Given the description of an element on the screen output the (x, y) to click on. 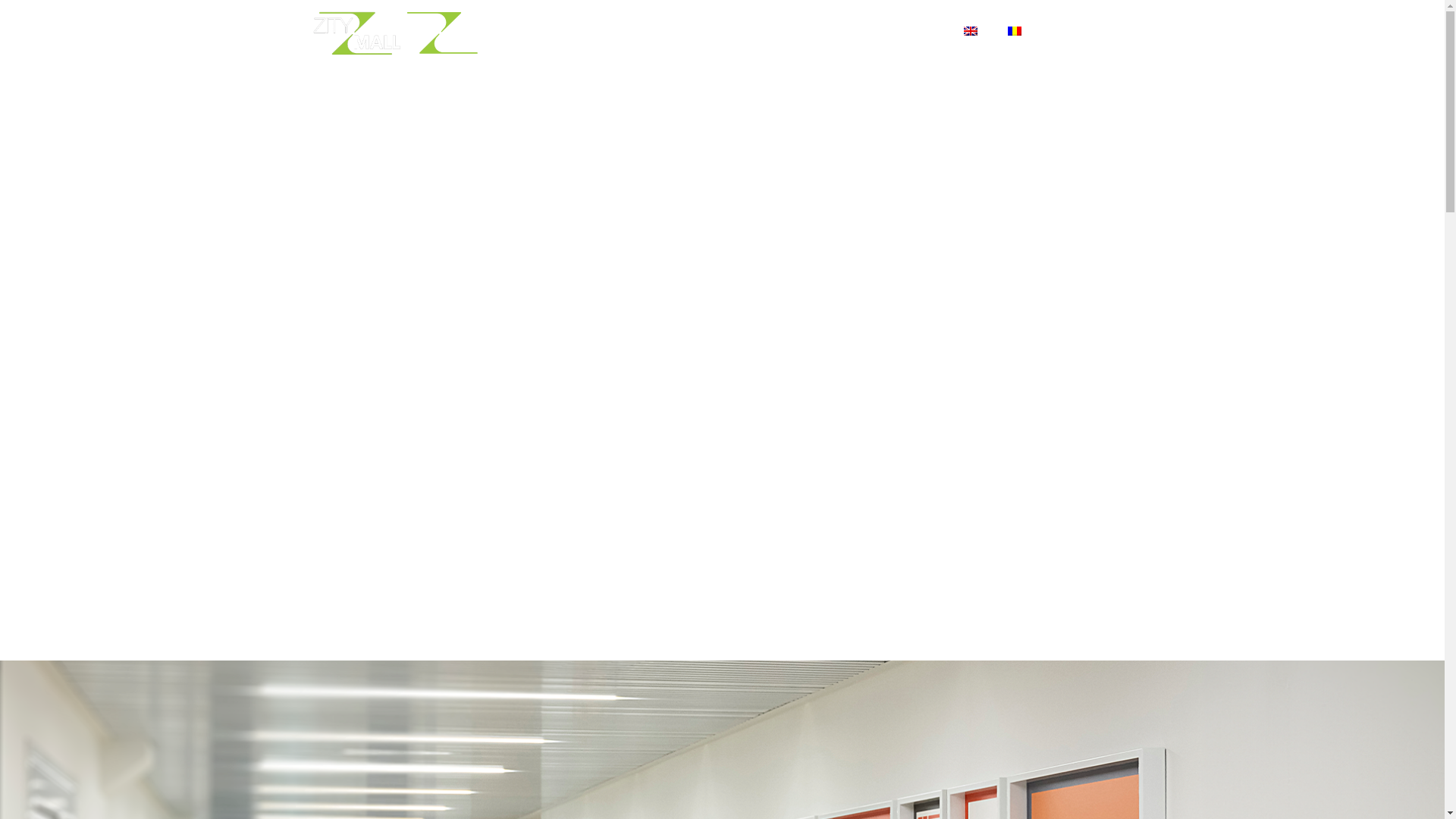
0 (1091, 30)
ABOUT US (695, 30)
Previous (72, 739)
INFORMATION (791, 30)
CONTACTS (889, 30)
0 (992, 30)
